Given the description of an element on the screen output the (x, y) to click on. 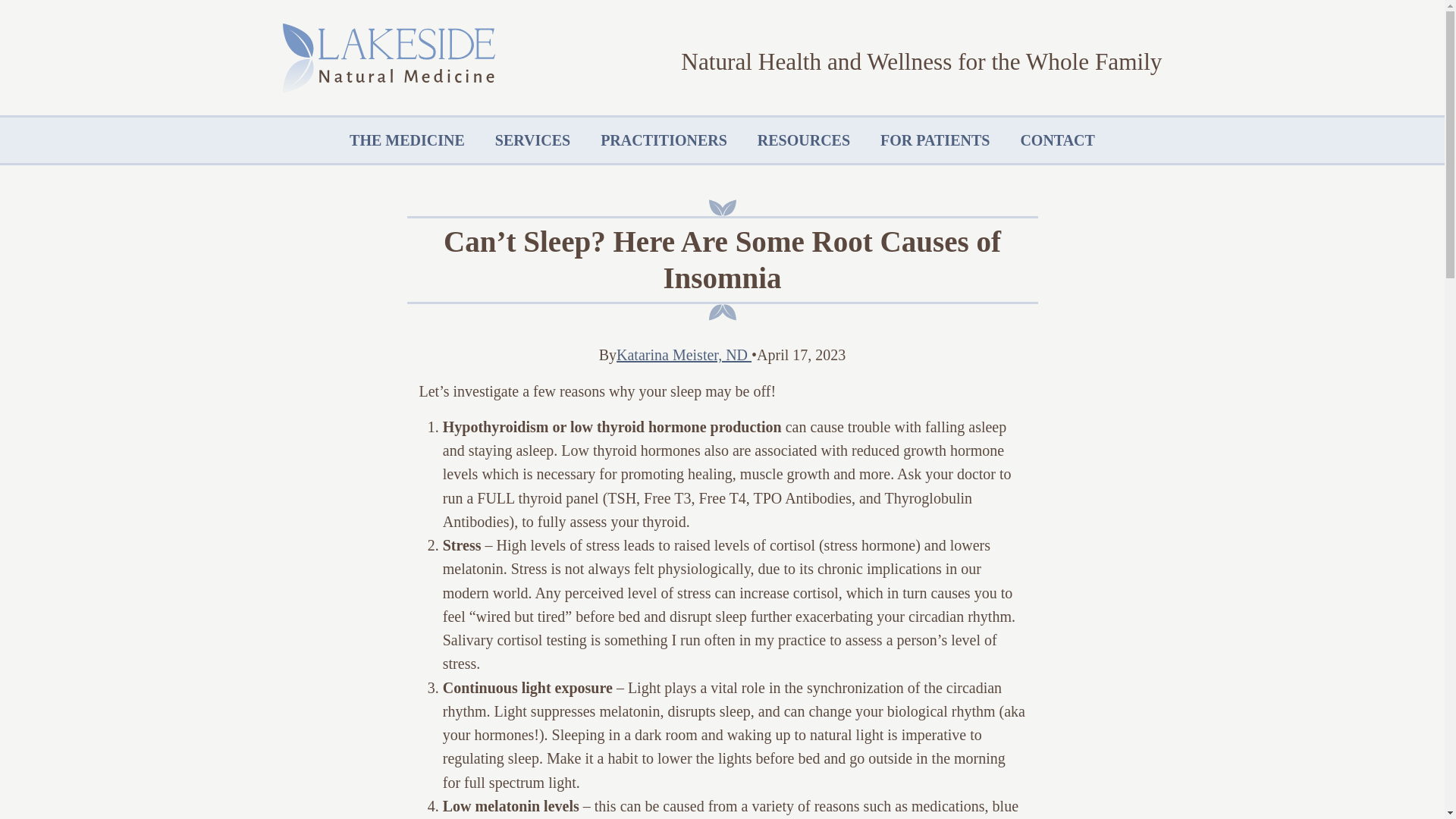
SERVICES (532, 139)
FOR PATIENTS (934, 139)
Katarina Meister, ND (683, 354)
THE MEDICINE (407, 139)
RESOURCES (803, 139)
PRACTITIONERS (663, 139)
CONTACT (1056, 139)
